Given the description of an element on the screen output the (x, y) to click on. 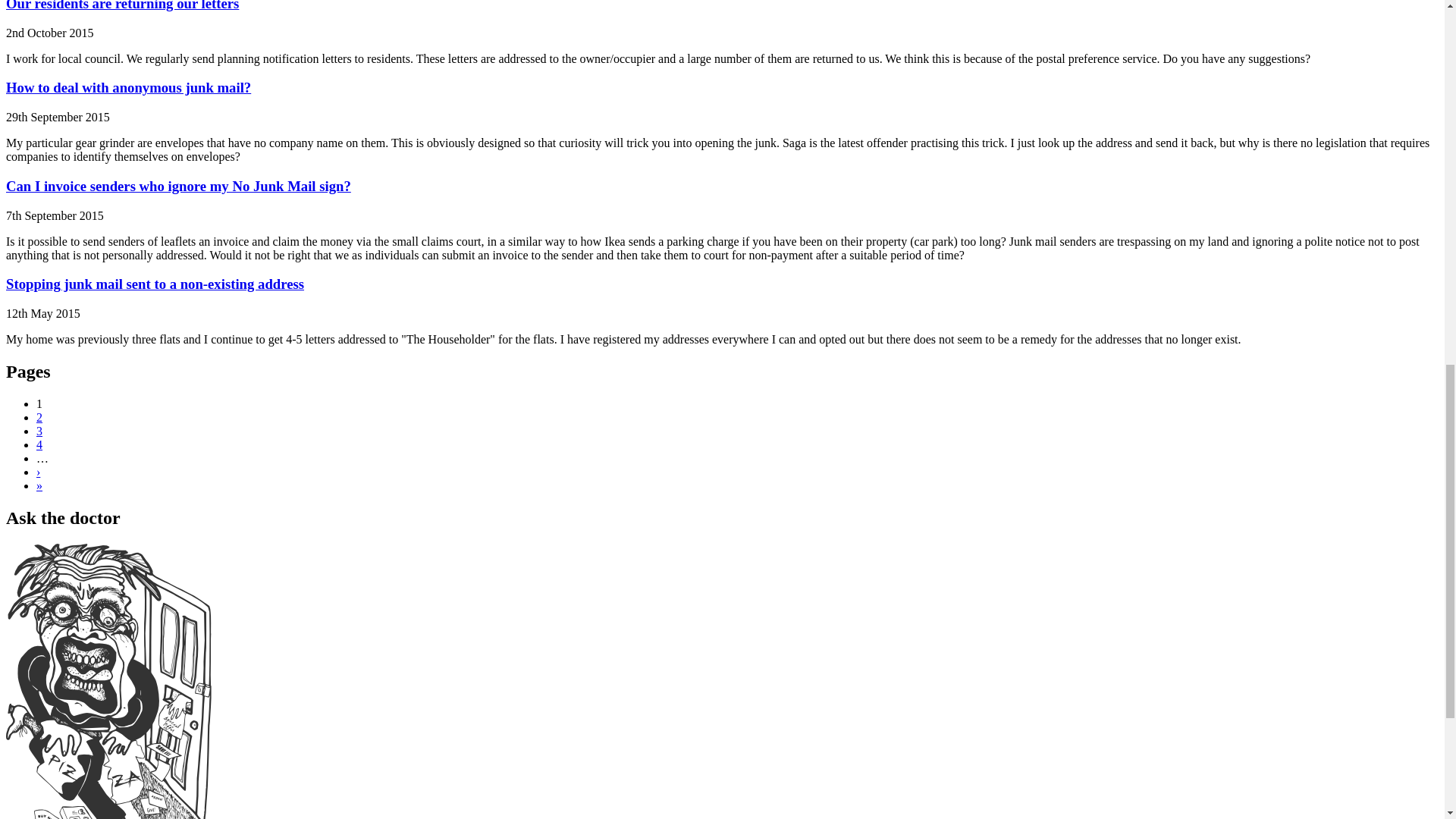
Stopping junk mail sent to a non-existing address (154, 283)
How to deal with anonymous junk mail? (127, 87)
Our residents are returning our letters (121, 5)
Can I invoice senders who ignore my No Junk Mail sign? (177, 186)
